Given the description of an element on the screen output the (x, y) to click on. 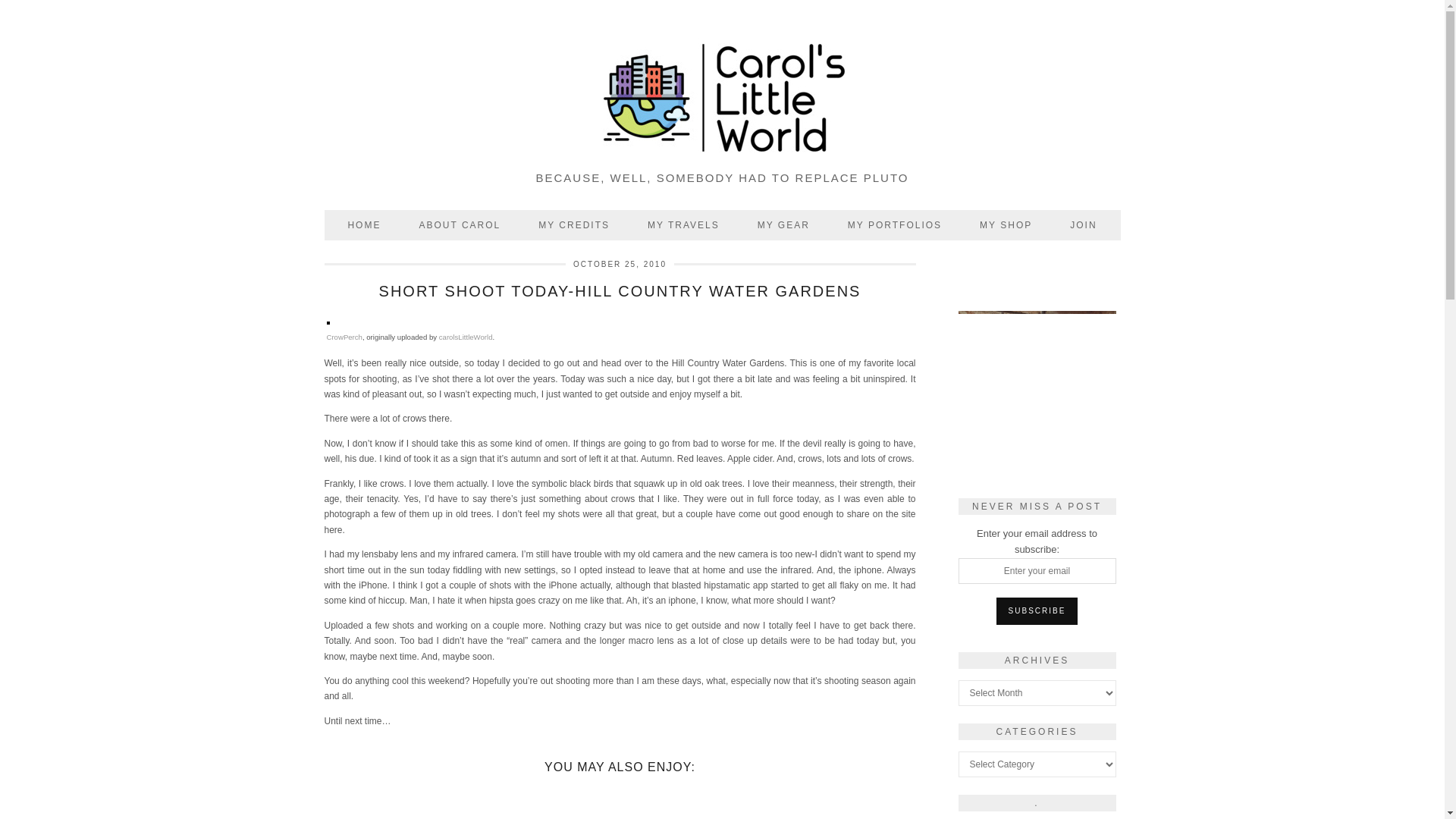
Subscribe (1036, 610)
MY GEAR (783, 224)
MY CREDITS (573, 224)
JOIN (1083, 224)
MY PORTFOLIOS (894, 224)
MY TRAVELS (683, 224)
HOME (363, 224)
Carol's Little World (722, 99)
MY SHOP (1005, 224)
CrowPerch (343, 336)
